Given the description of an element on the screen output the (x, y) to click on. 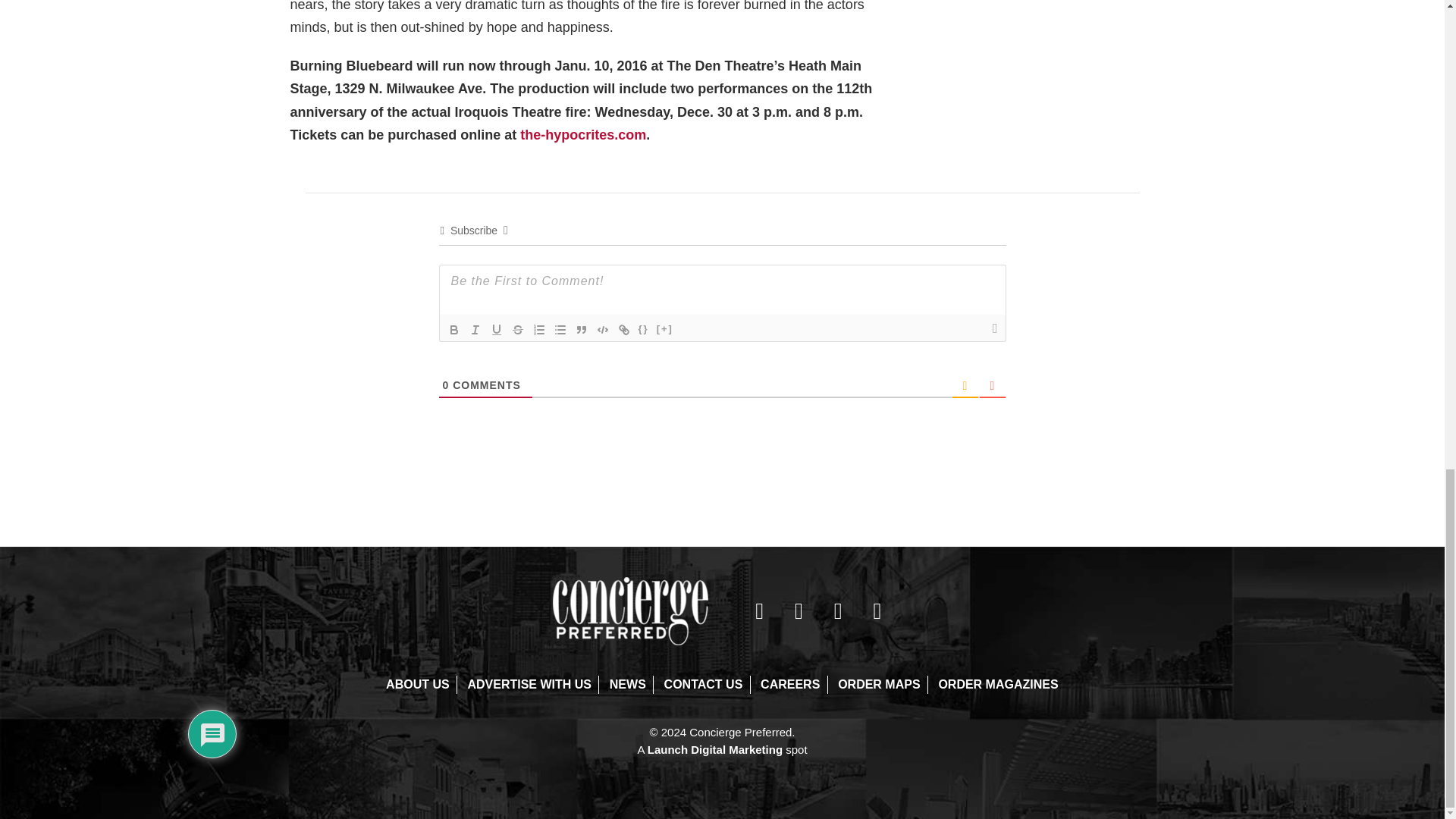
the-hypocrites.com (582, 134)
